Given the description of an element on the screen output the (x, y) to click on. 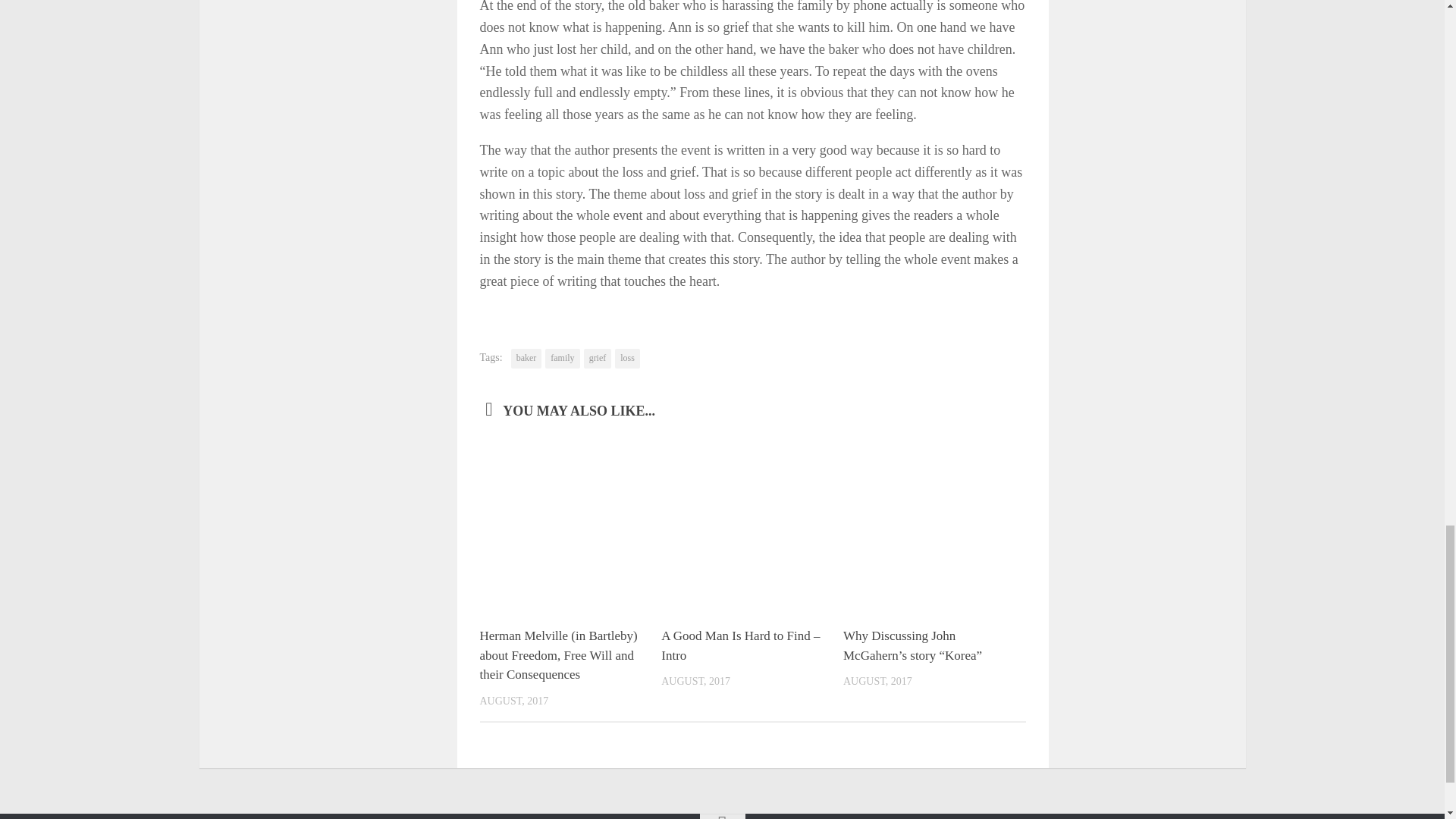
family (561, 358)
loss (627, 358)
grief (597, 358)
baker (526, 358)
